Given the description of an element on the screen output the (x, y) to click on. 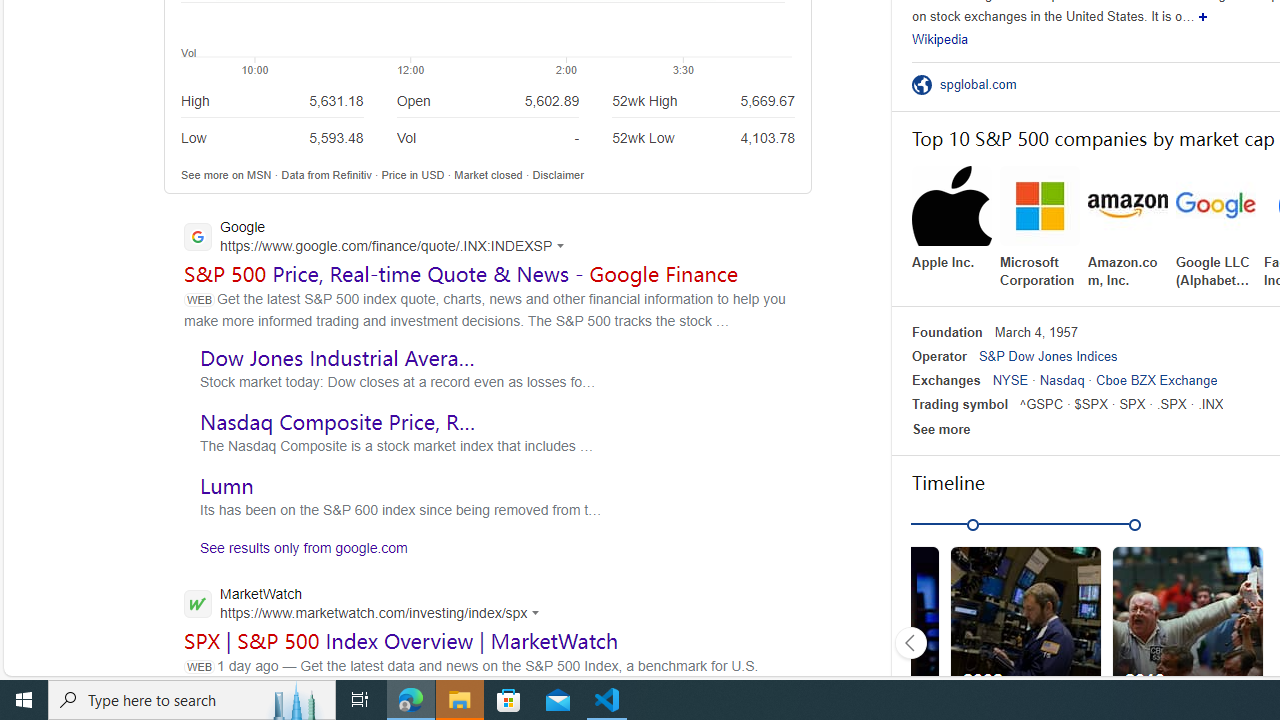
Amazon.com, Inc. (1127, 228)
Apple Inc. (951, 219)
Apple Inc. (951, 219)
Show more (1203, 15)
Disclaimer (557, 173)
S&P Dow Jones Indices (1047, 356)
S&P 500 Price, Real-time Quote & News - Google Finance (461, 273)
Cboe BZX Exchange (1156, 380)
